Given the description of an element on the screen output the (x, y) to click on. 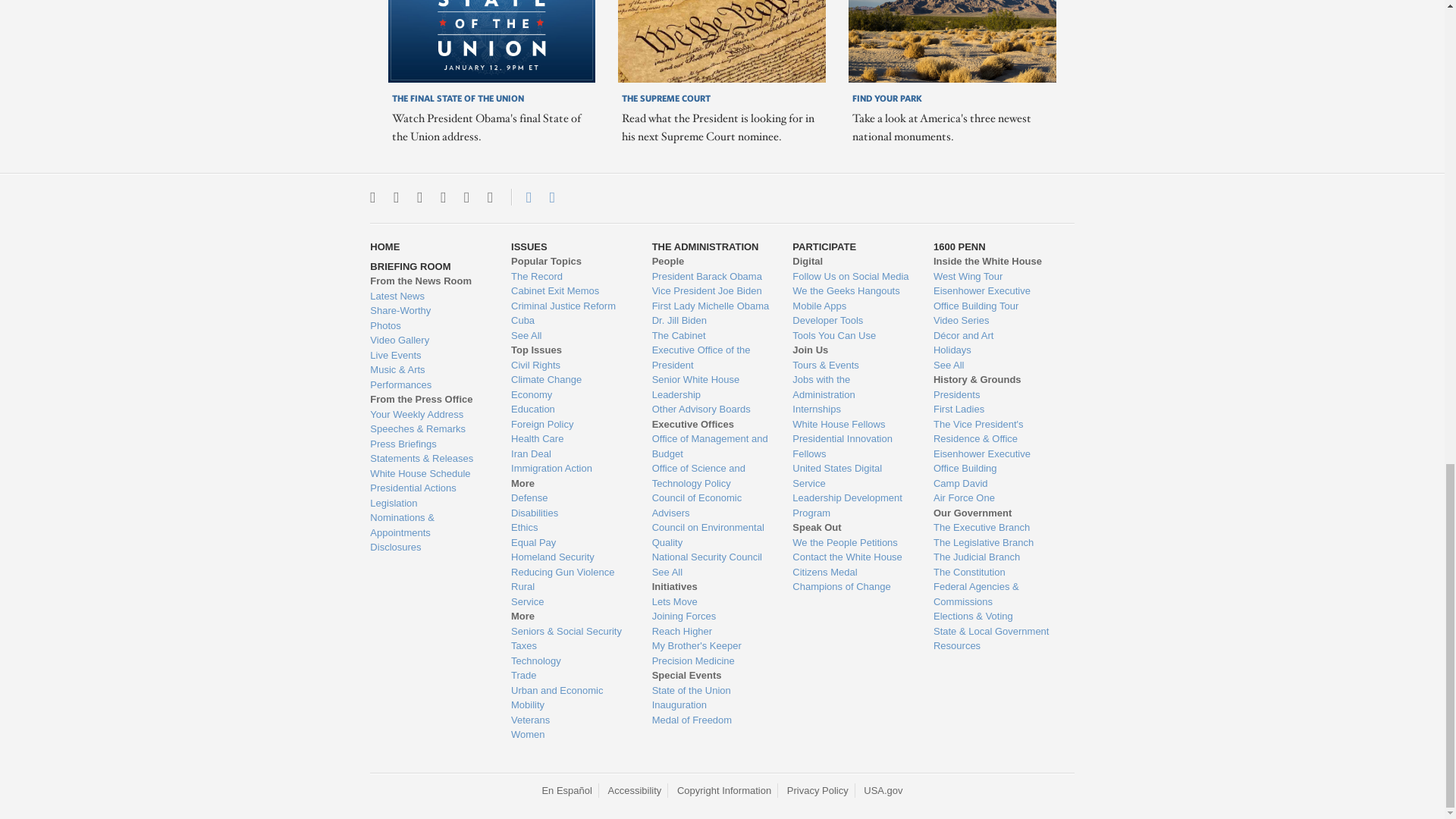
Contact the Whitehouse. (521, 197)
